Given the description of an element on the screen output the (x, y) to click on. 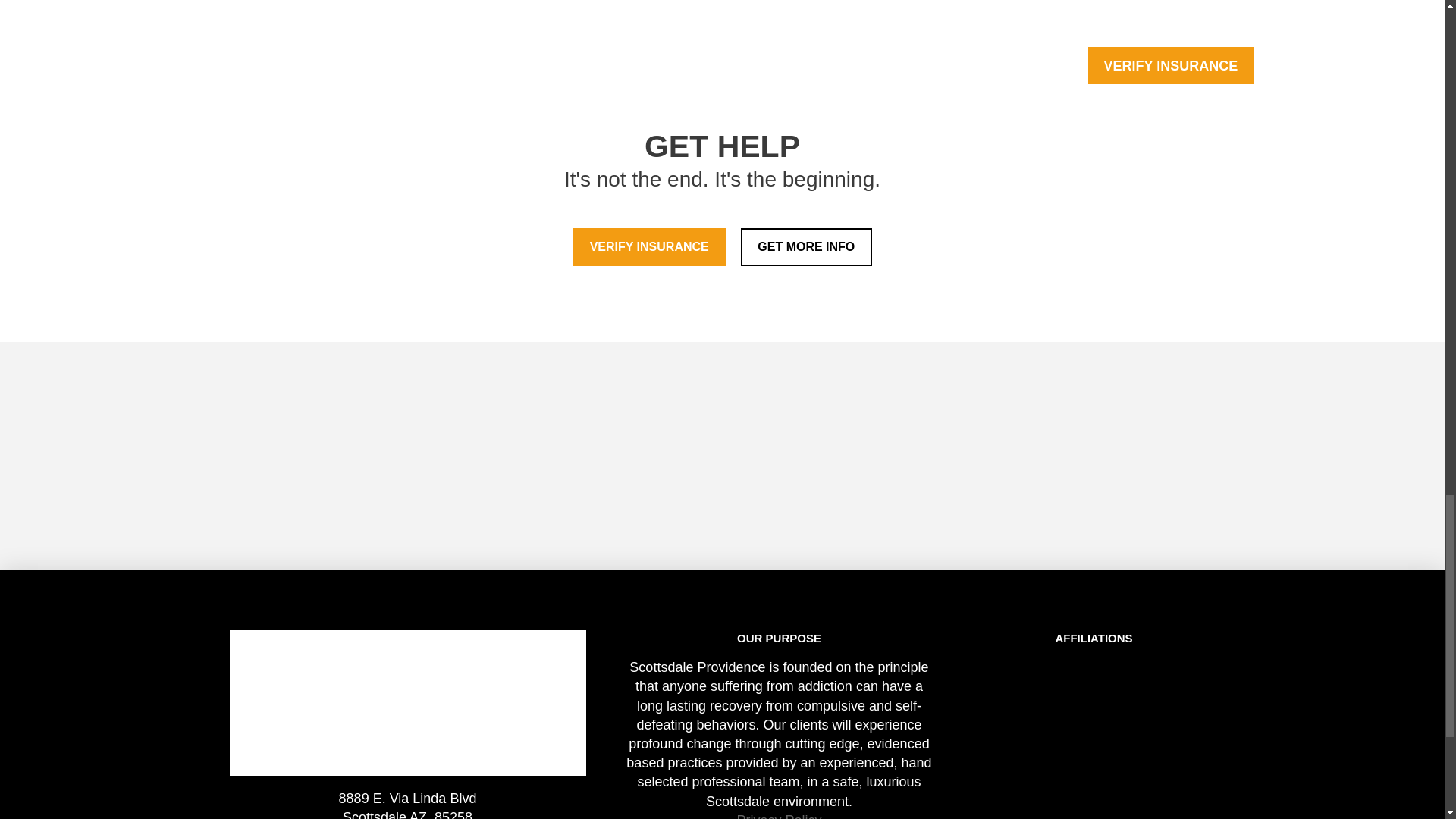
GET MORE INFO (806, 247)
VERIFY INSURANCE (648, 247)
Privacy Policy (778, 816)
